Given the description of an element on the screen output the (x, y) to click on. 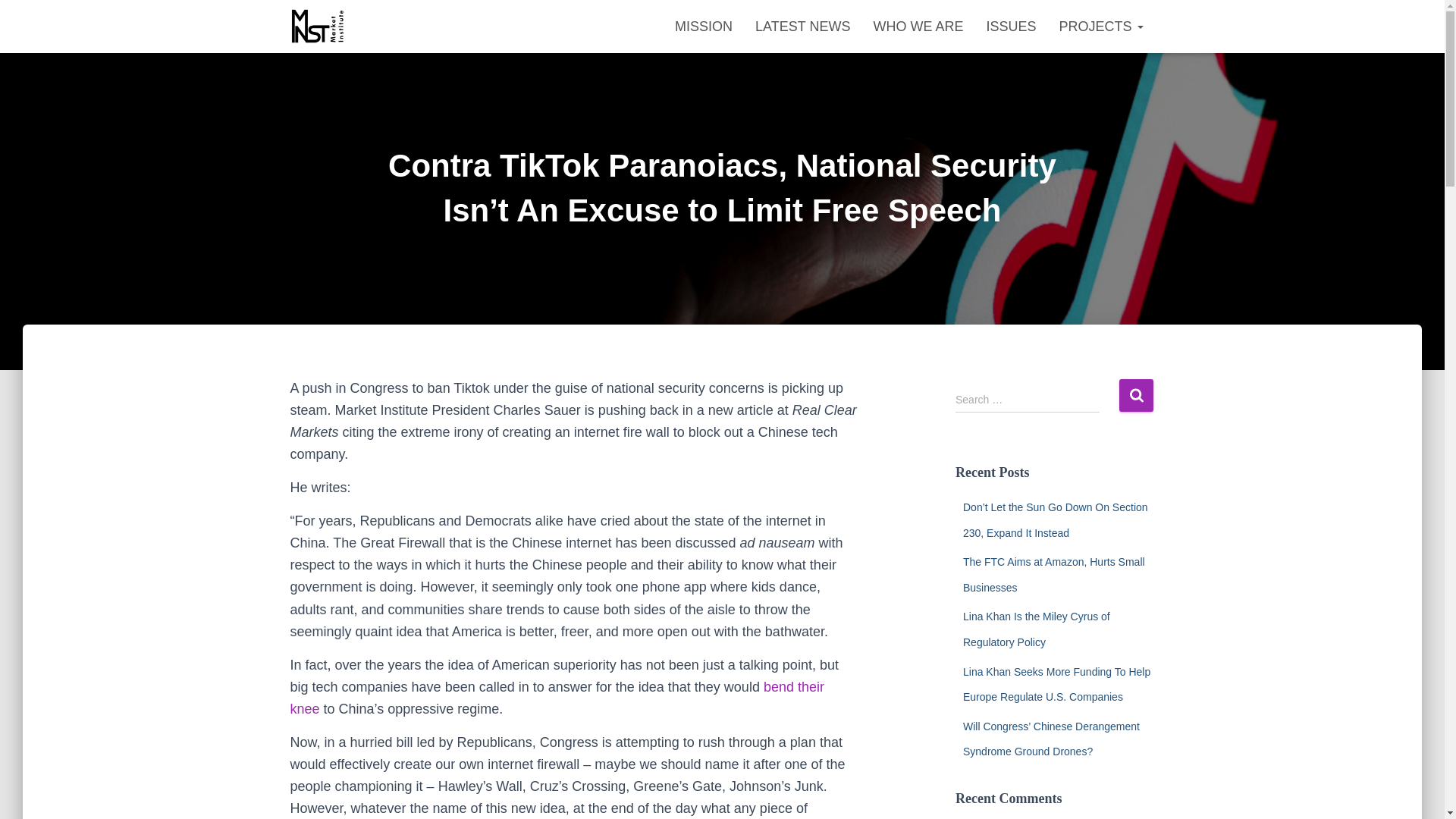
Search (1136, 395)
Market Institute (318, 26)
MISSION (703, 26)
Mission (703, 26)
WHO WE ARE (917, 26)
LATEST NEWS (802, 26)
Who We Are (917, 26)
bend their knee (556, 697)
The FTC Aims at Amazon, Hurts Small Businesses (1053, 574)
Issues (1010, 26)
